Given the description of an element on the screen output the (x, y) to click on. 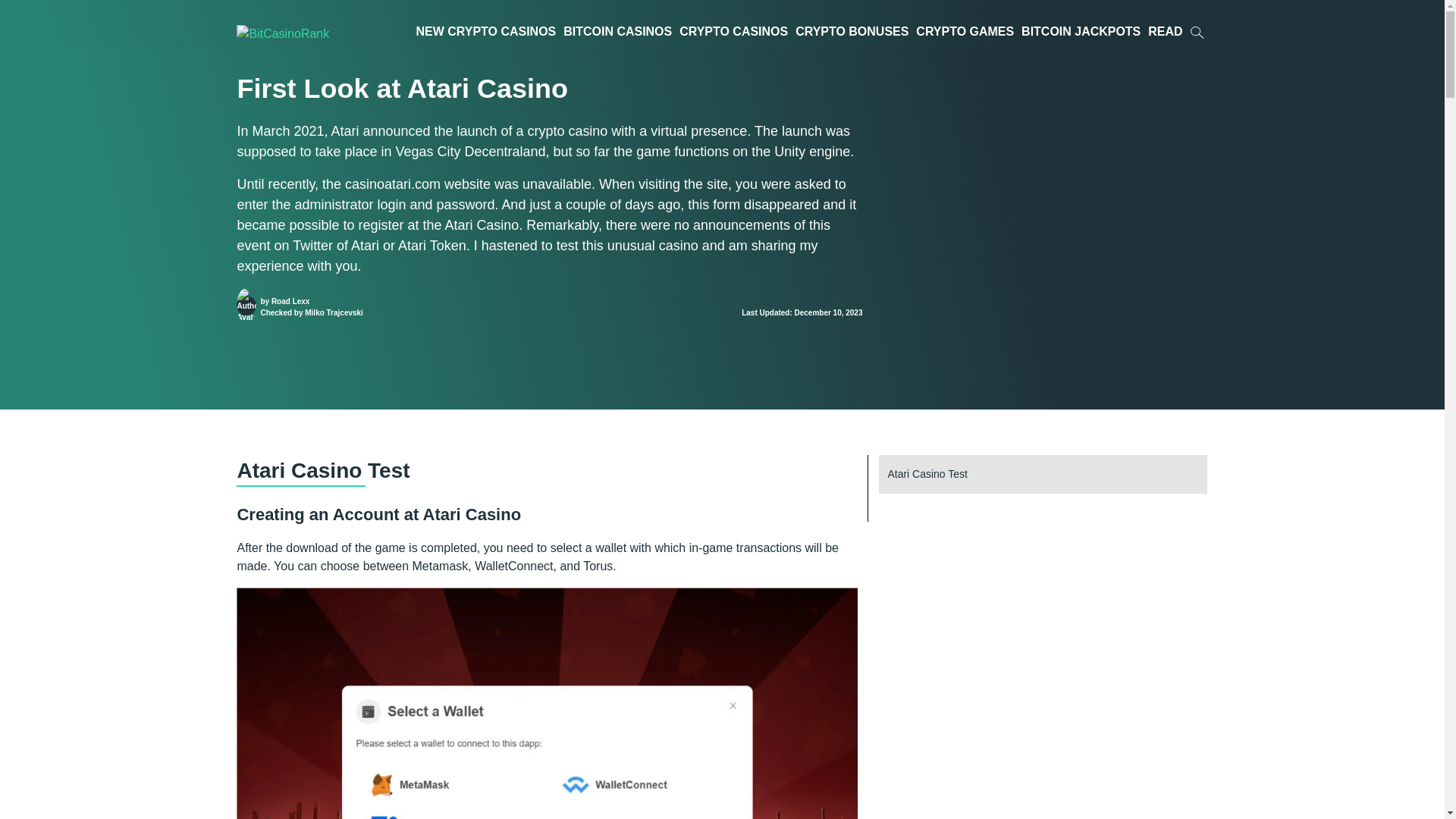
BITCOIN CASINOS (617, 31)
CRYPTO CASINOS (733, 31)
CRYPTO BONUSES (851, 31)
NEW CRYPTO CASINOS (486, 31)
BitCasinoRank (307, 33)
